Given the description of an element on the screen output the (x, y) to click on. 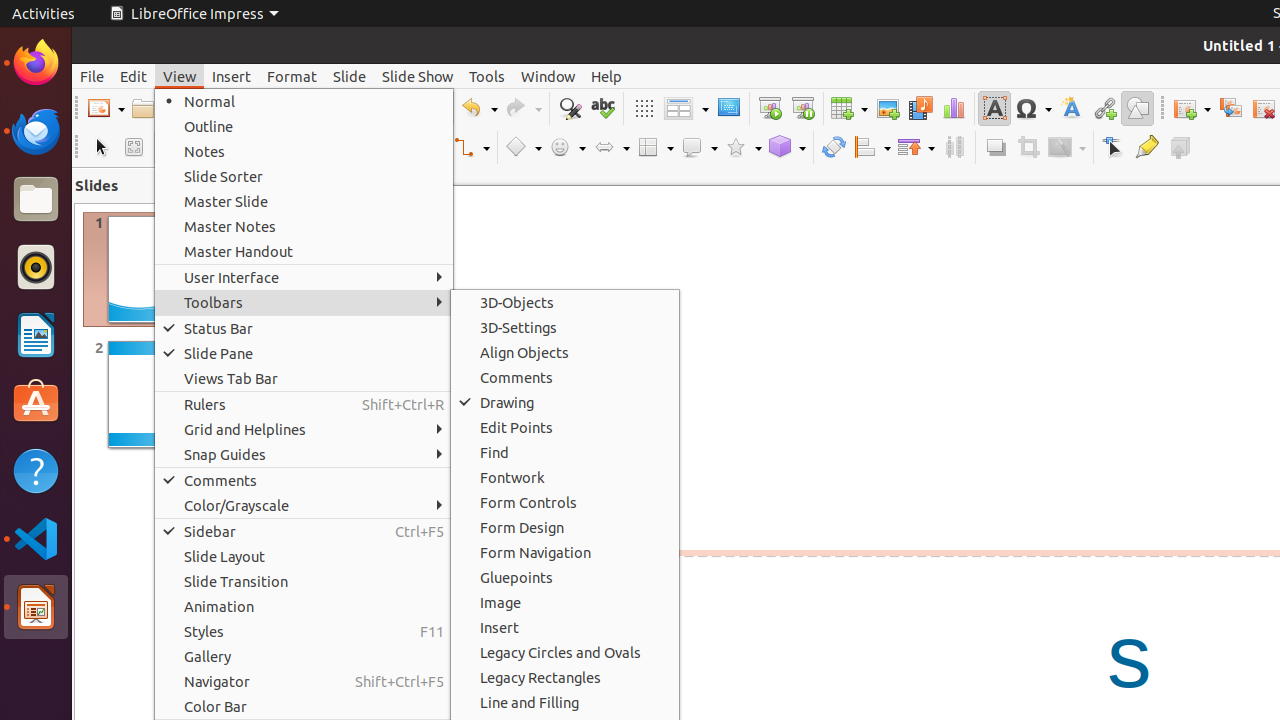
Ubuntu Software Element type: push-button (36, 402)
User Interface Element type: menu (304, 277)
Tools Element type: menu (487, 76)
Format Element type: menu (292, 76)
Select Element type: push-button (100, 147)
